Given the description of an element on the screen output the (x, y) to click on. 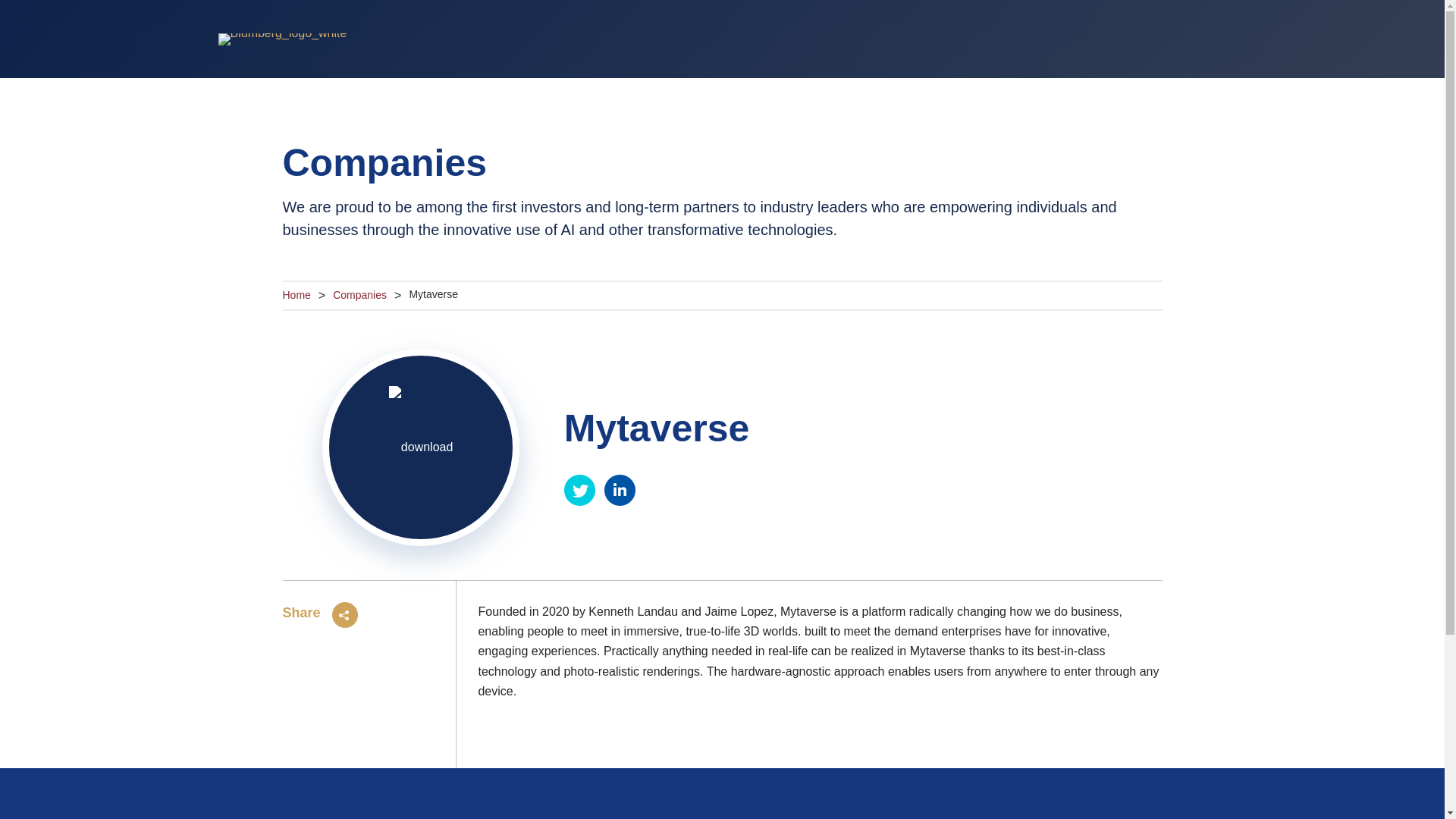
Home (296, 295)
download (420, 446)
Companies (360, 295)
